Given the description of an element on the screen output the (x, y) to click on. 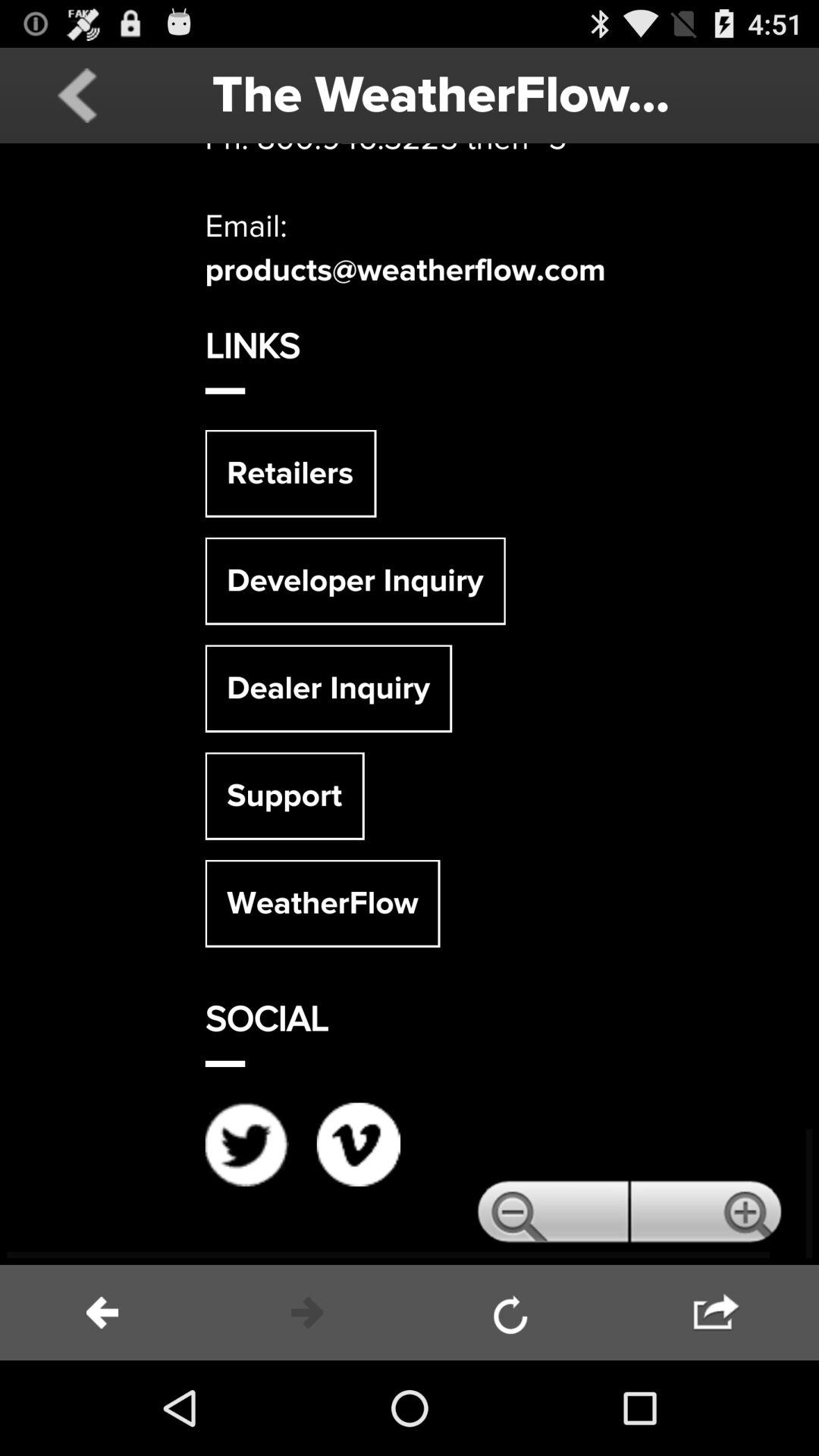
advance forward (306, 1312)
